Given the description of an element on the screen output the (x, y) to click on. 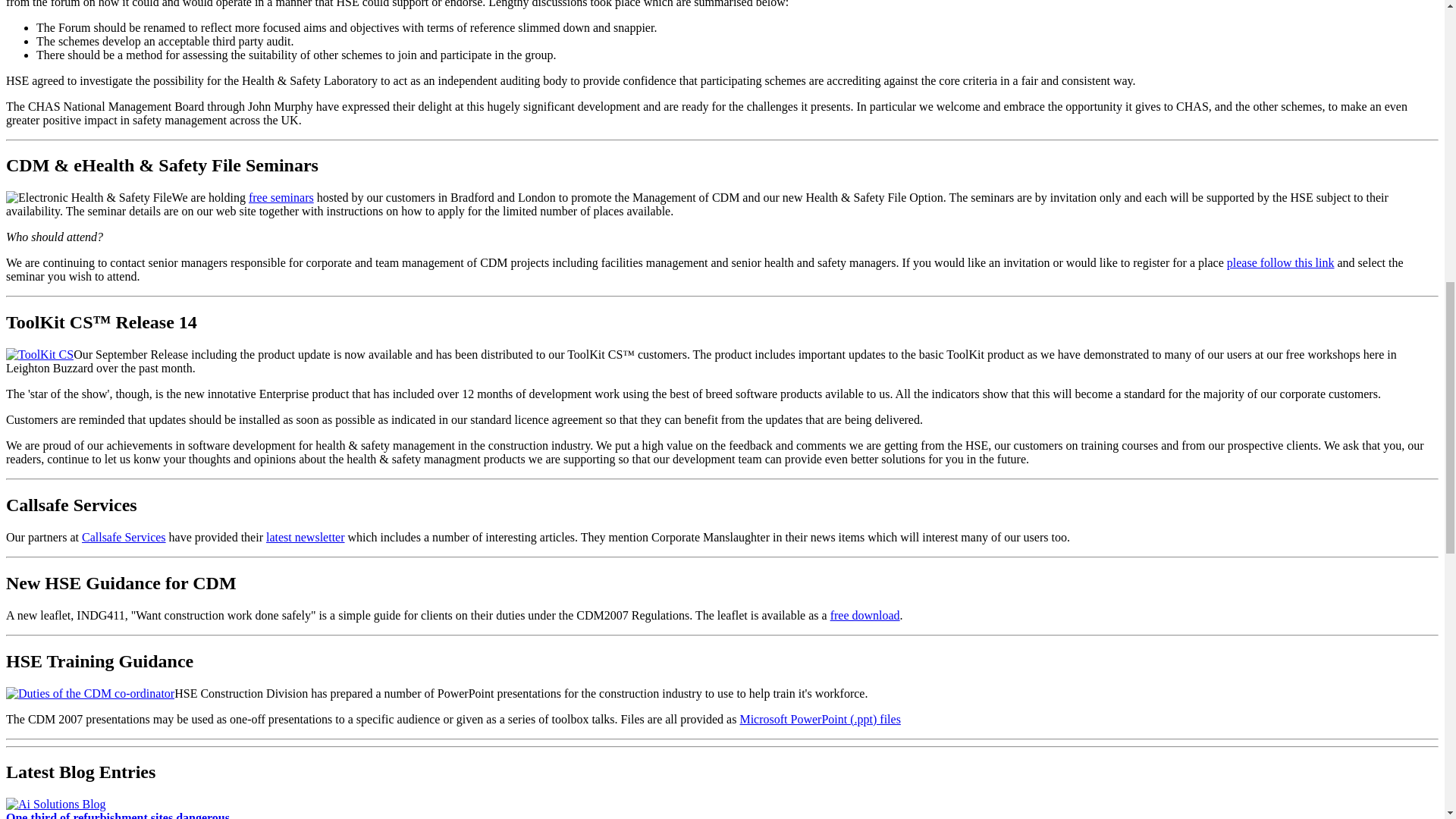
free download (864, 615)
free seminars (281, 196)
latest newsletter (305, 536)
please follow this link (1281, 262)
Callsafe Services (123, 536)
